Given the description of an element on the screen output the (x, y) to click on. 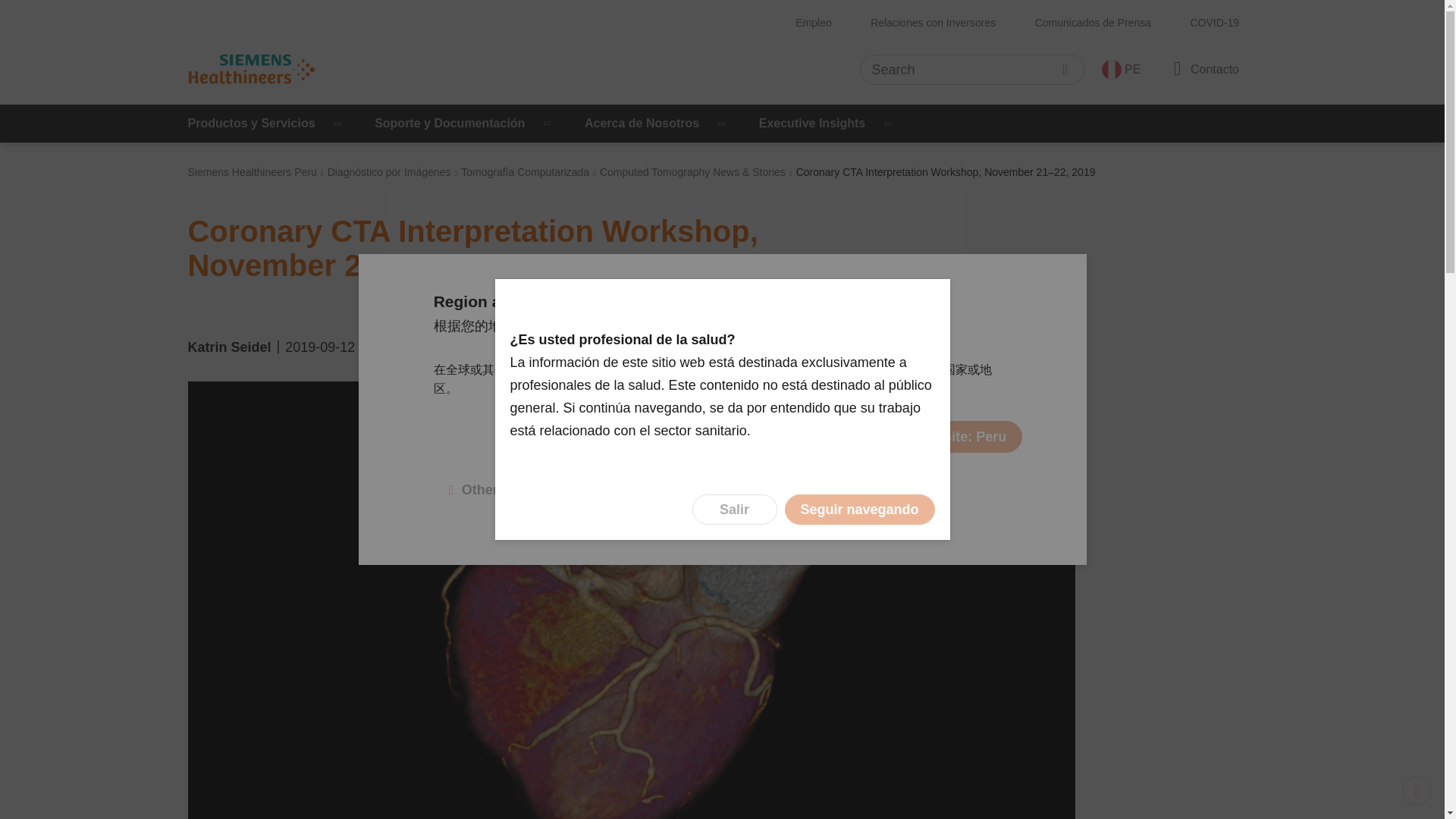
Continue to current website: Peru (896, 436)
China Home (697, 436)
Other regions, countries, and languages (585, 489)
Contacto (1203, 69)
Executive Insights (827, 123)
Empleo (812, 22)
Acerca de Nosotros (656, 123)
PE (1121, 69)
China (753, 325)
Productos y Servicios (266, 123)
Comunicados de Prensa (1092, 22)
Siemens Healthineers Peru (251, 172)
COVID-19 (1214, 22)
Relaciones con Inversores (933, 22)
